Given the description of an element on the screen output the (x, y) to click on. 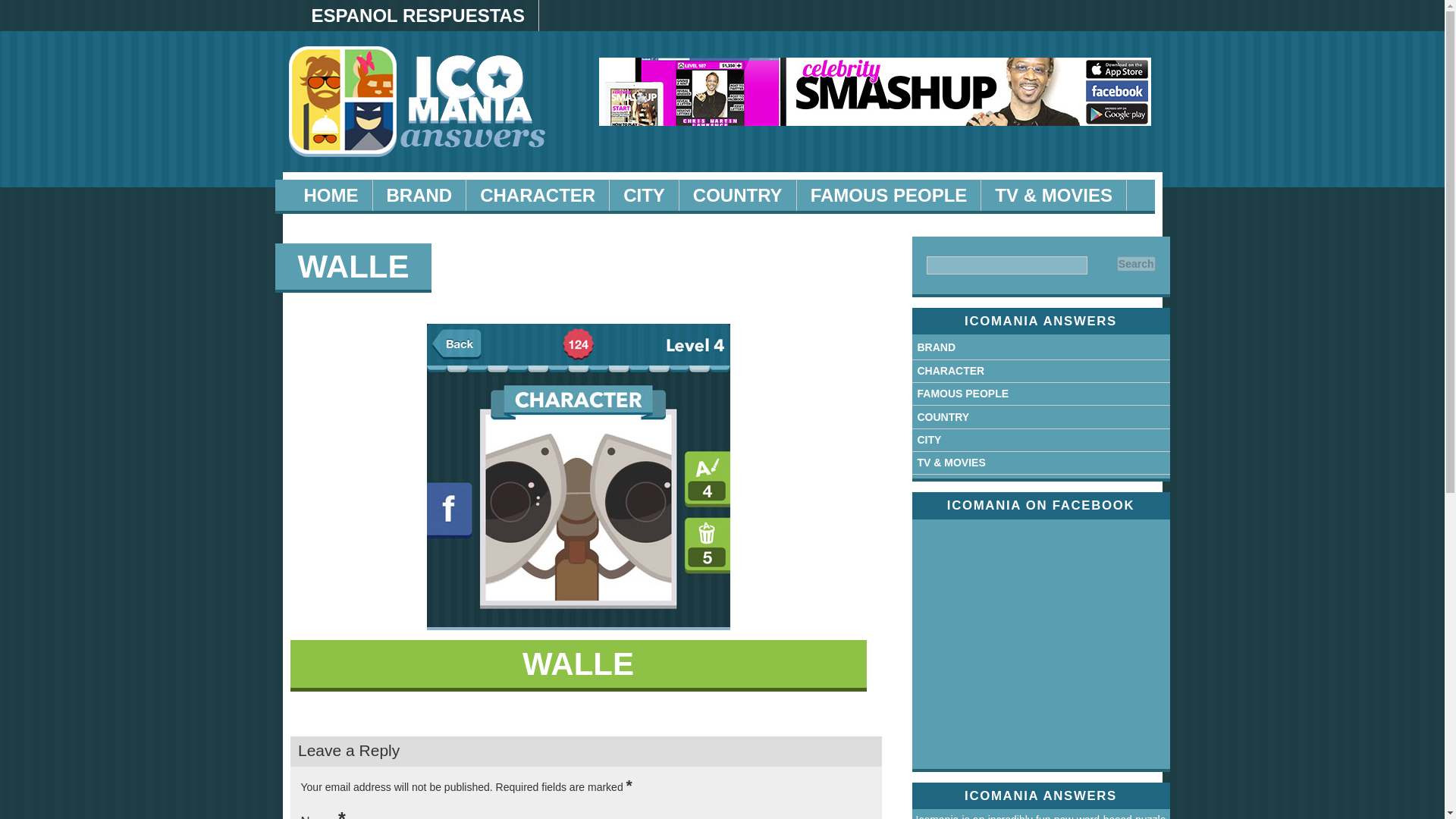
CITY (929, 439)
COUNTRY (943, 417)
Espanol Respuestas (417, 15)
City Answers (644, 194)
BRAND (936, 346)
Permanent Link to WallE (352, 267)
ESPANOL RESPUESTAS (417, 15)
Famous People Answers (888, 194)
WALLE (352, 267)
FAMOUS PEOPLE (963, 393)
CHARACTER (537, 194)
Icomania Answers (330, 194)
CHARACTER (951, 370)
FAMOUS PEOPLE (888, 194)
